Given the description of an element on the screen output the (x, y) to click on. 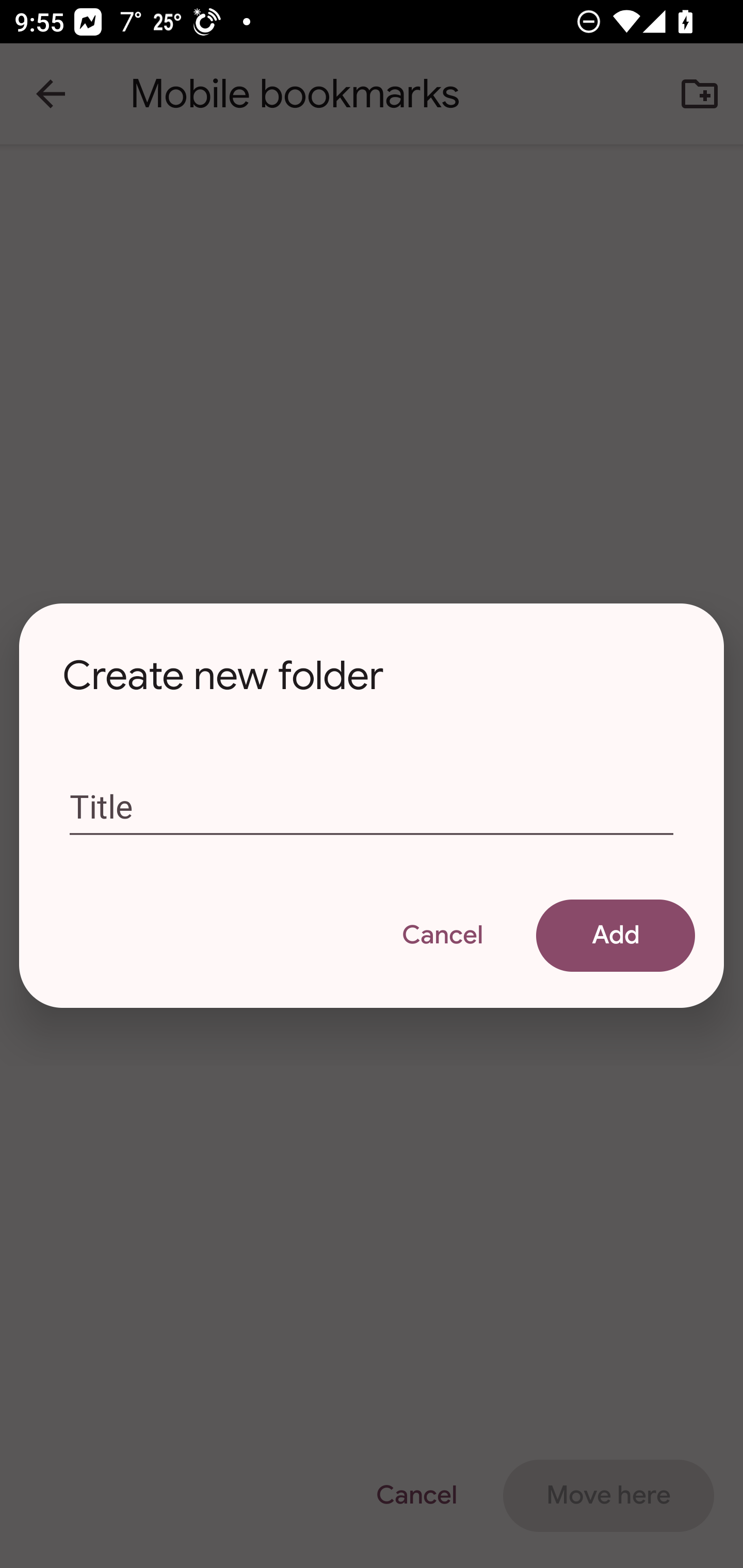
Title (371, 807)
Cancel (441, 935)
Add (615, 935)
